Given the description of an element on the screen output the (x, y) to click on. 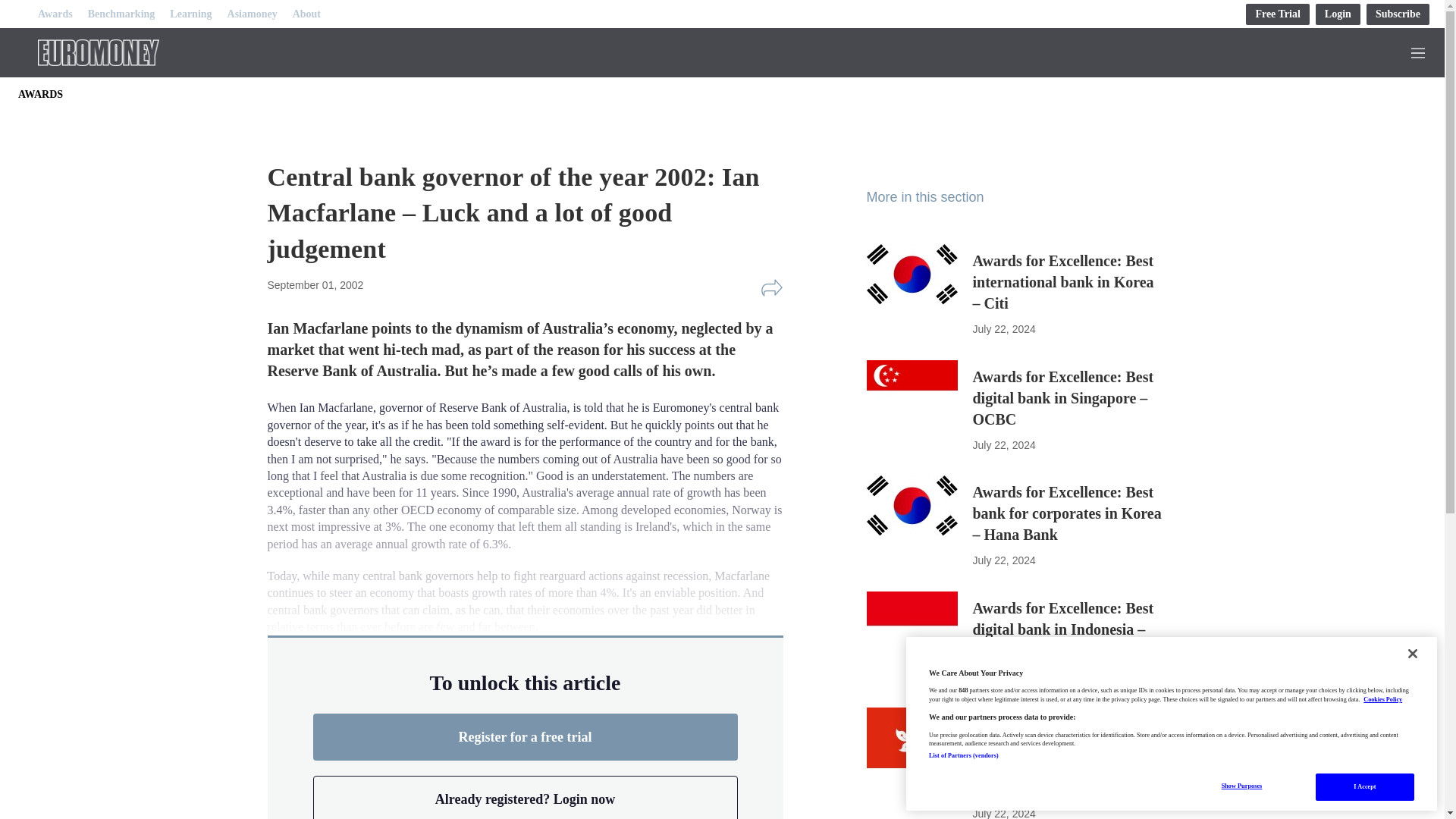
About (306, 13)
Benchmarking (121, 13)
Awards (54, 13)
Asiamoney (252, 13)
Login (1337, 13)
Free Trial (1277, 13)
Subscribe (1398, 13)
Share (771, 287)
Learning (190, 13)
